Given the description of an element on the screen output the (x, y) to click on. 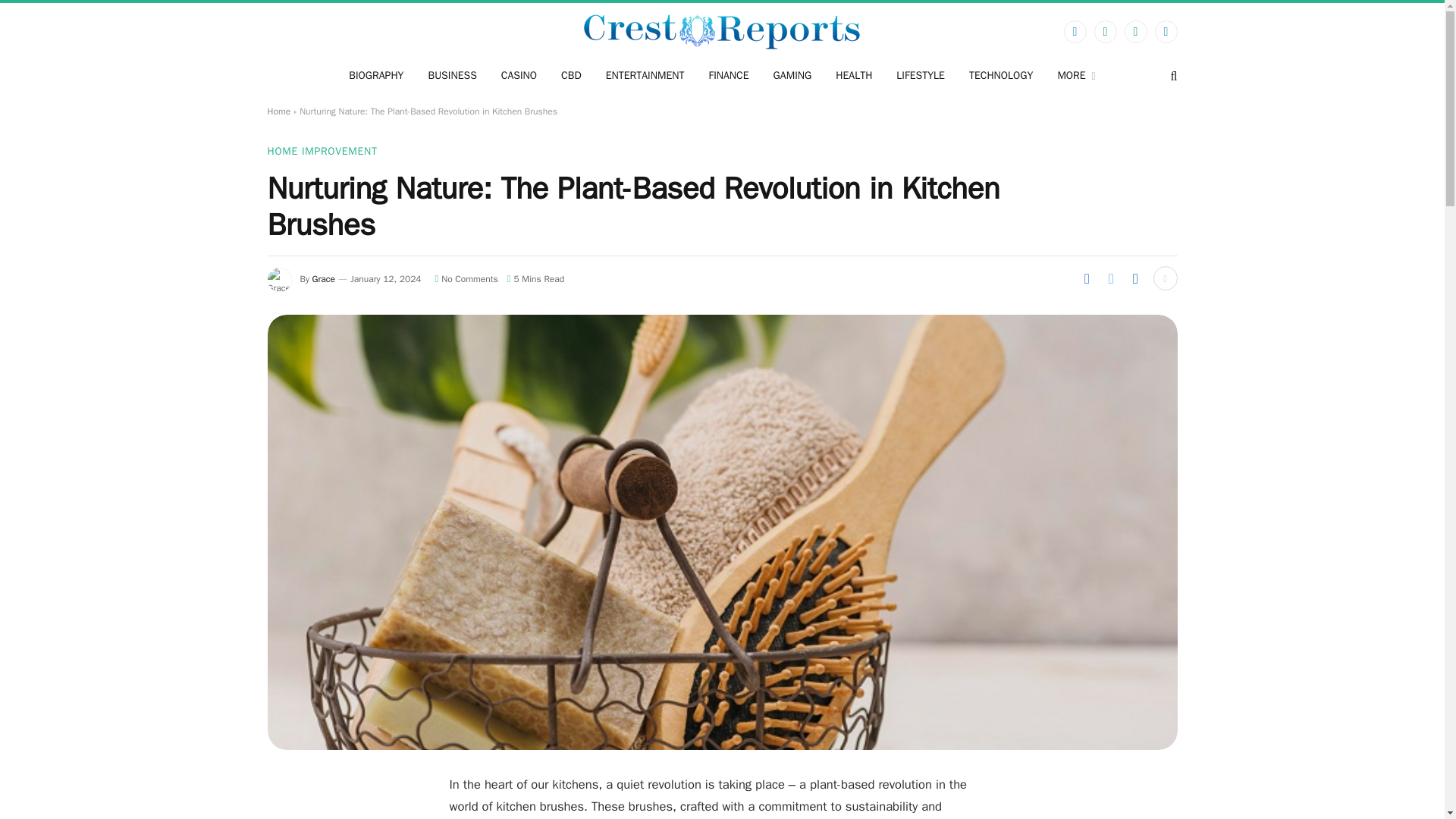
MORE (1075, 75)
FINANCE (727, 75)
CBD (571, 75)
CASINO (518, 75)
Instagram (1135, 31)
BIOGRAPHY (375, 75)
Share on Facebook (1086, 278)
Facebook (1074, 31)
Show More Social Sharing (1164, 278)
